Given the description of an element on the screen output the (x, y) to click on. 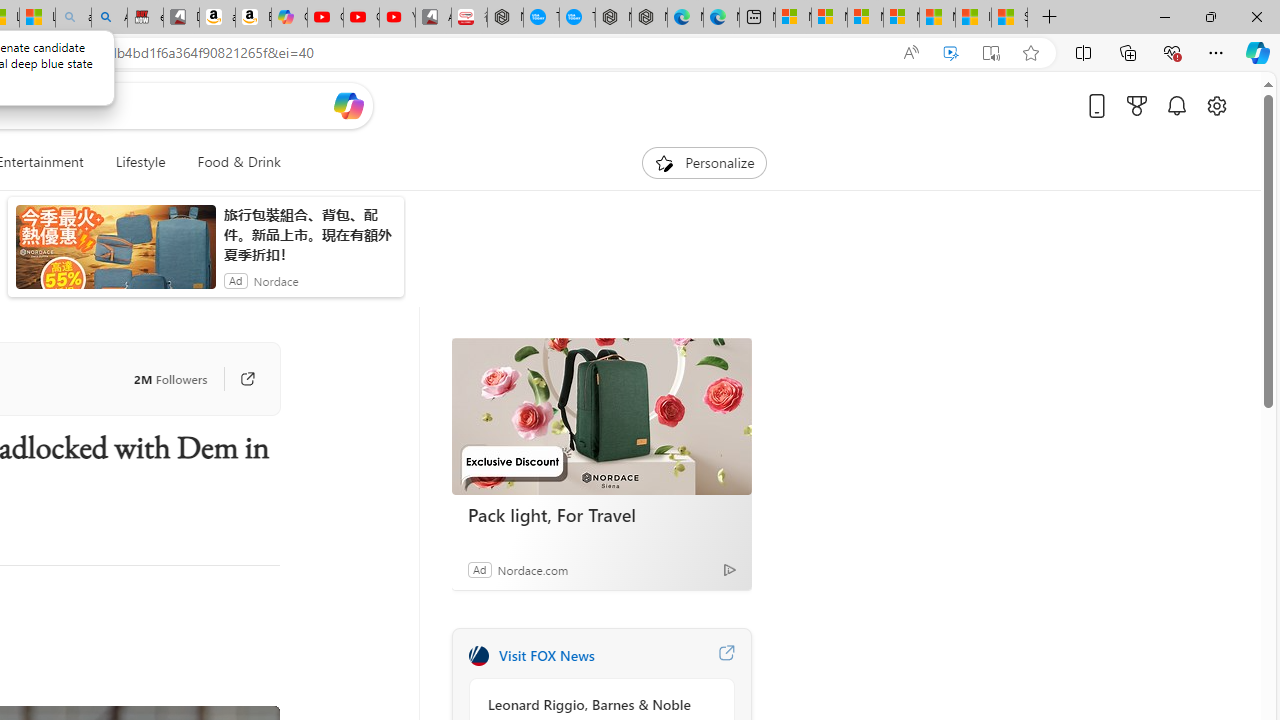
FOX News (478, 655)
Go to publisher's site (247, 378)
Nordace - My Account (505, 17)
Open settings (1216, 105)
To get missing image descriptions, open the context menu. (664, 162)
Amazon Echo Dot PNG - Search Images (109, 17)
Pack light, For Travel (601, 416)
Microsoft rewards (1137, 105)
Lifestyle (140, 162)
Gloom - YouTube (361, 17)
